Given the description of an element on the screen output the (x, y) to click on. 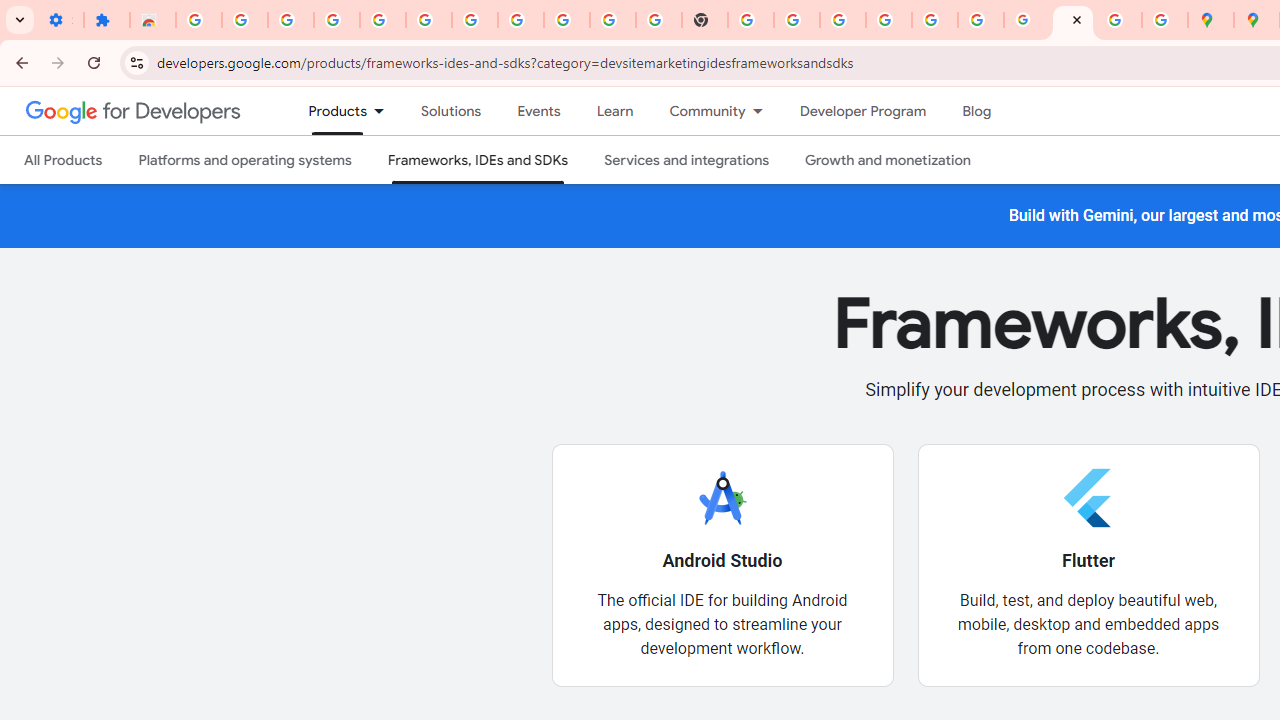
Platforms and operating systems (244, 160)
Safety in Our Products - Google Safety Center (1164, 20)
Blog (976, 111)
Community (698, 111)
Sign in - Google Accounts (198, 20)
Learn how to find your photos - Google Photos Help (382, 20)
https://scholar.google.com/ (751, 20)
Solutions (451, 111)
